Given the description of an element on the screen output the (x, y) to click on. 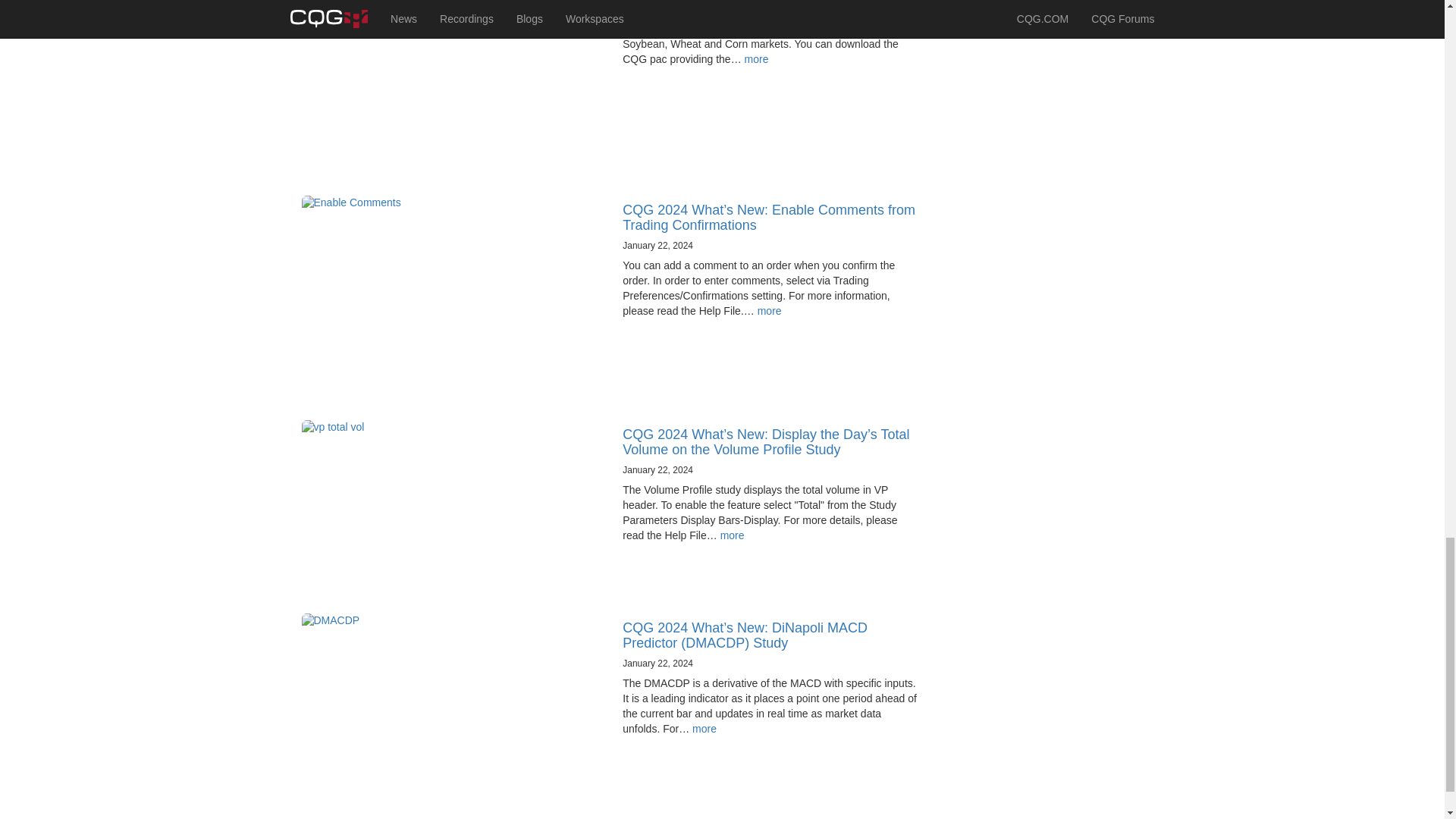
more (732, 535)
more (769, 310)
more (756, 59)
